Given the description of an element on the screen output the (x, y) to click on. 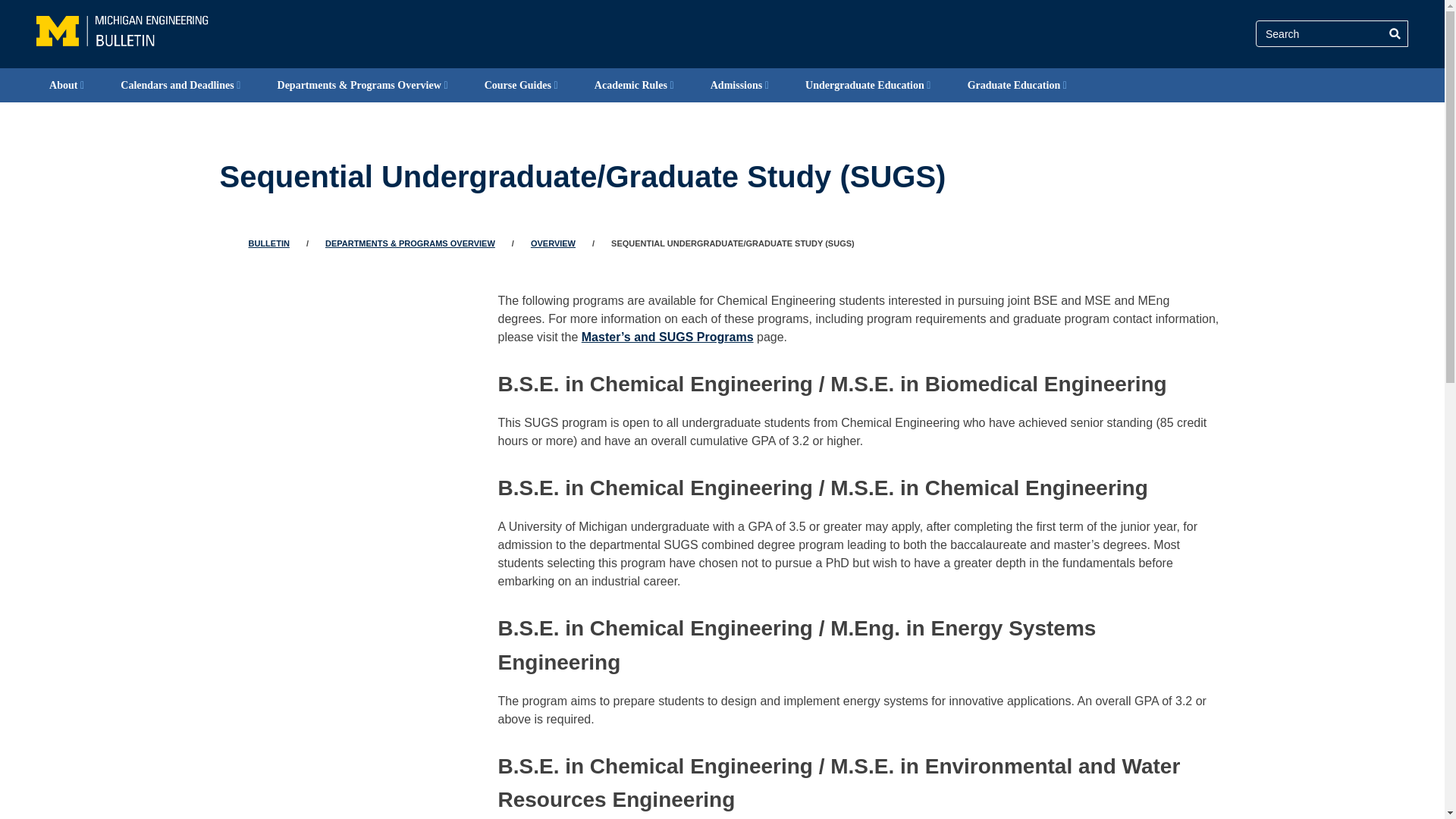
Course Guides (521, 85)
About (66, 85)
Calendars and Deadlines (180, 85)
Calendars and Deadlines (180, 85)
About (66, 85)
